Given the description of an element on the screen output the (x, y) to click on. 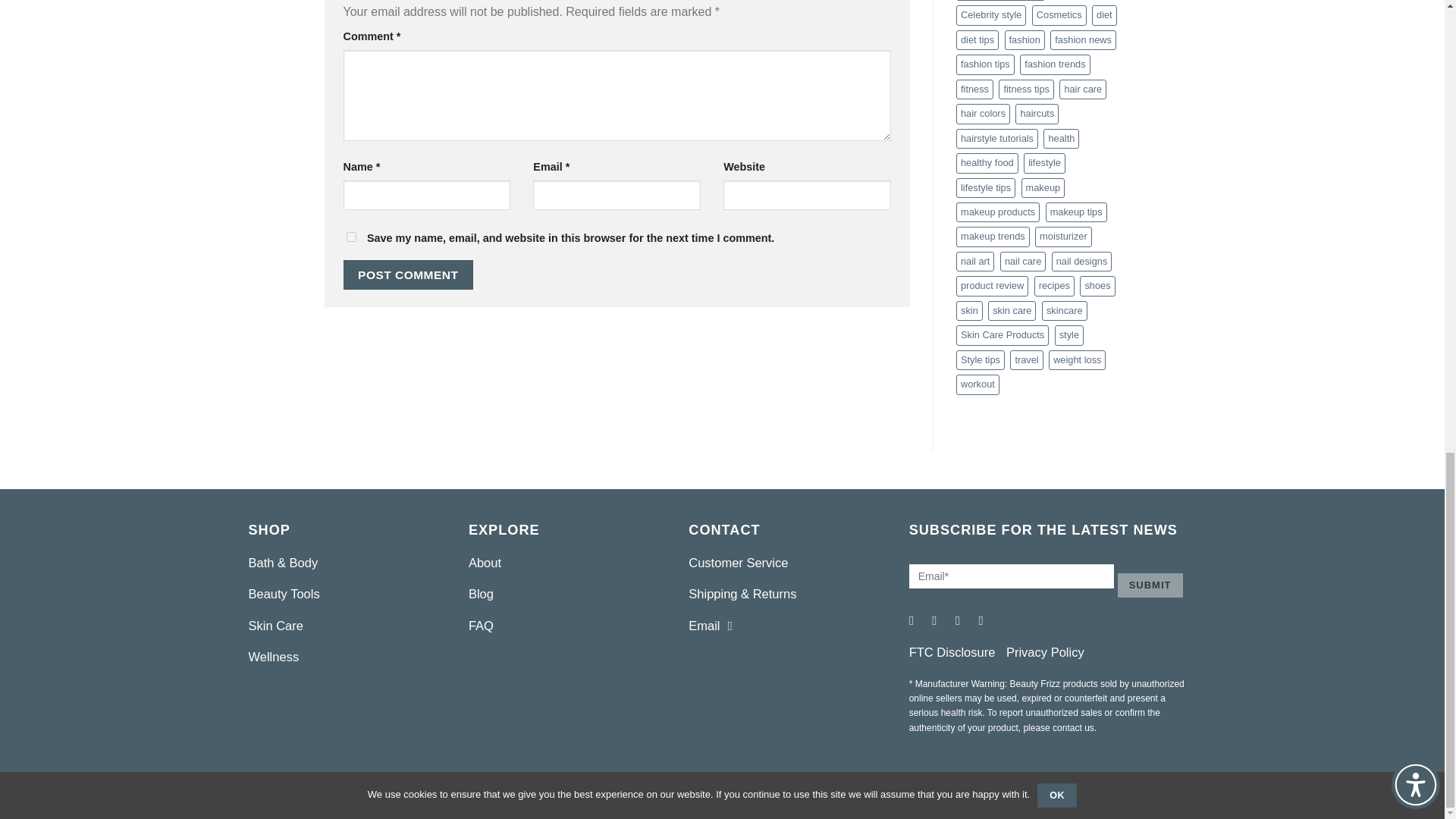
Post Comment (407, 274)
yes (350, 235)
